Given the description of an element on the screen output the (x, y) to click on. 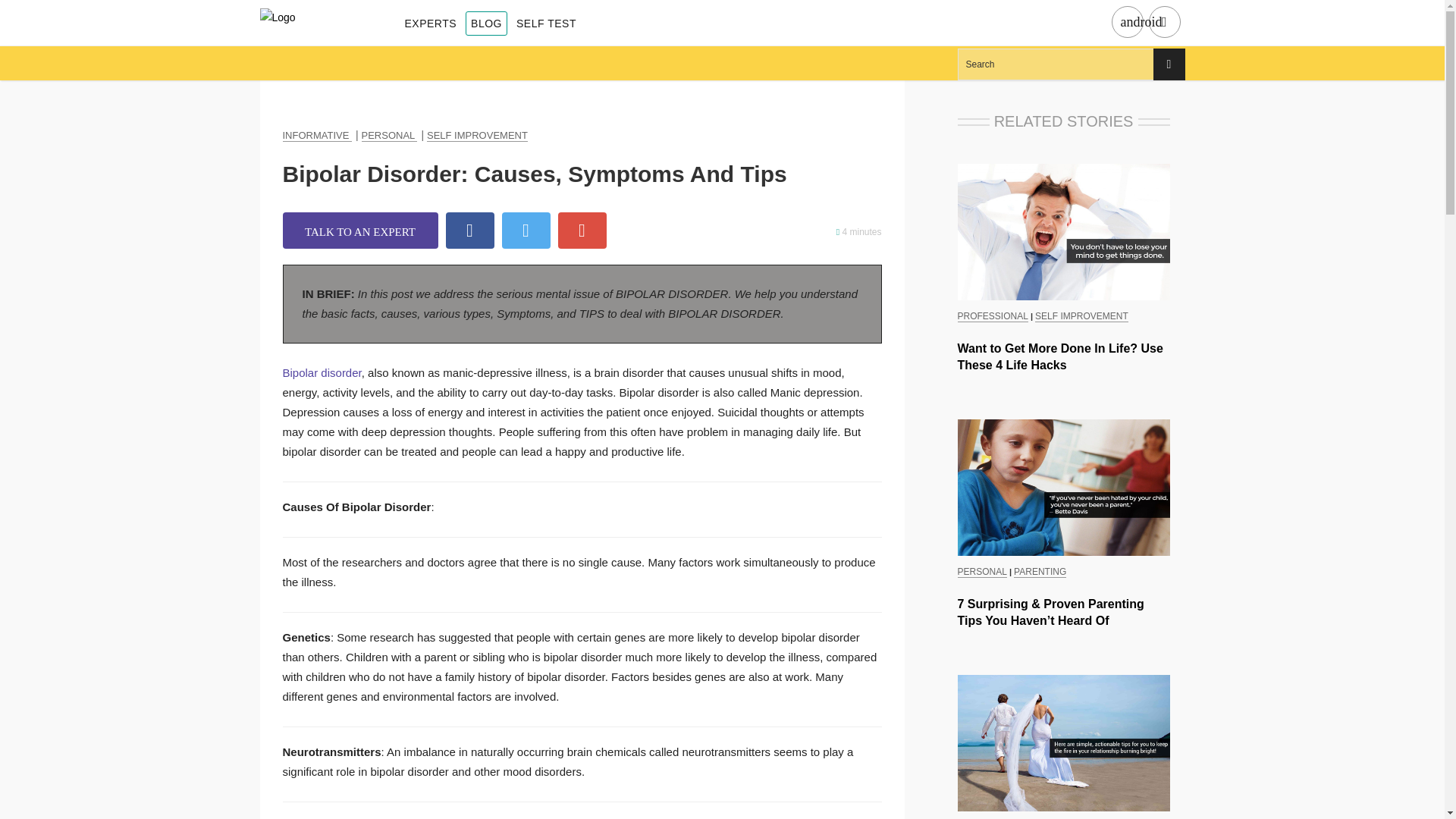
Get it on Play Store (1127, 22)
android (1127, 22)
Search (1070, 64)
BLOG (485, 23)
Search (1070, 64)
Get it on Play Store (1141, 21)
SELF TEST (546, 23)
EXPERTS (430, 23)
Get it on App Store (1163, 22)
